Given the description of an element on the screen output the (x, y) to click on. 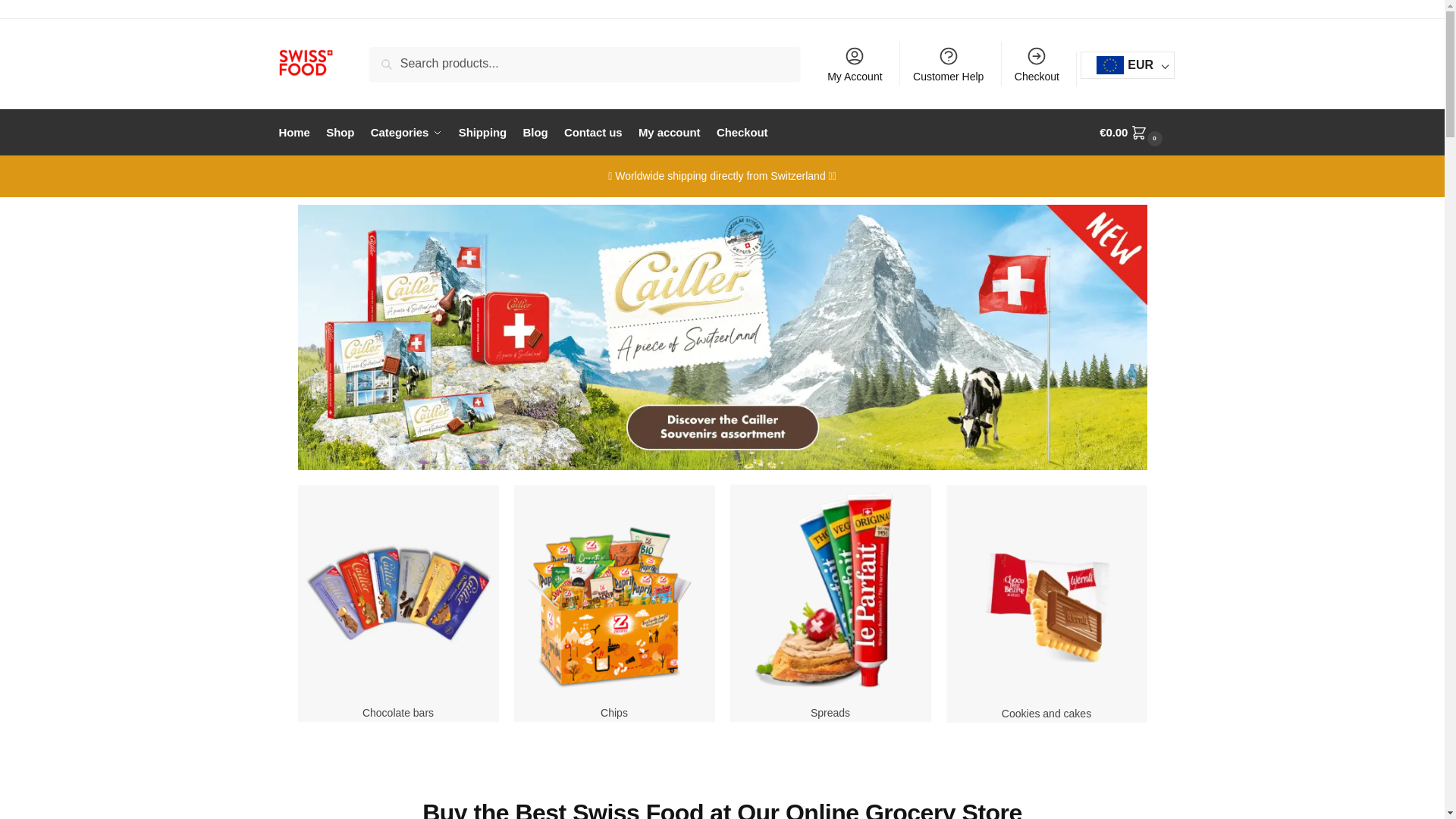
My Account (854, 63)
Search (392, 56)
Checkout (1037, 63)
Customer Help (948, 63)
